Given the description of an element on the screen output the (x, y) to click on. 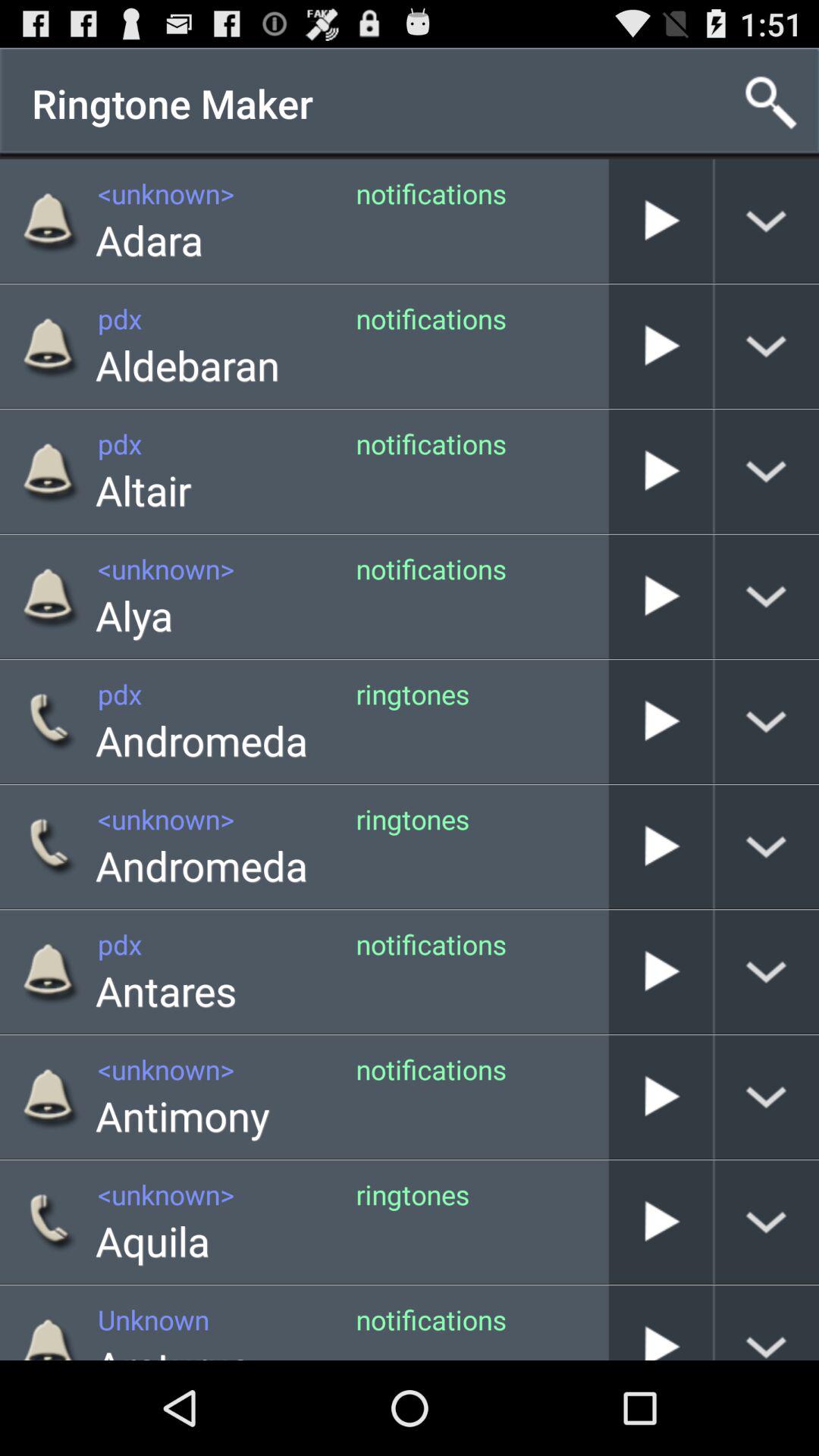
play audio (660, 1322)
